Given the description of an element on the screen output the (x, y) to click on. 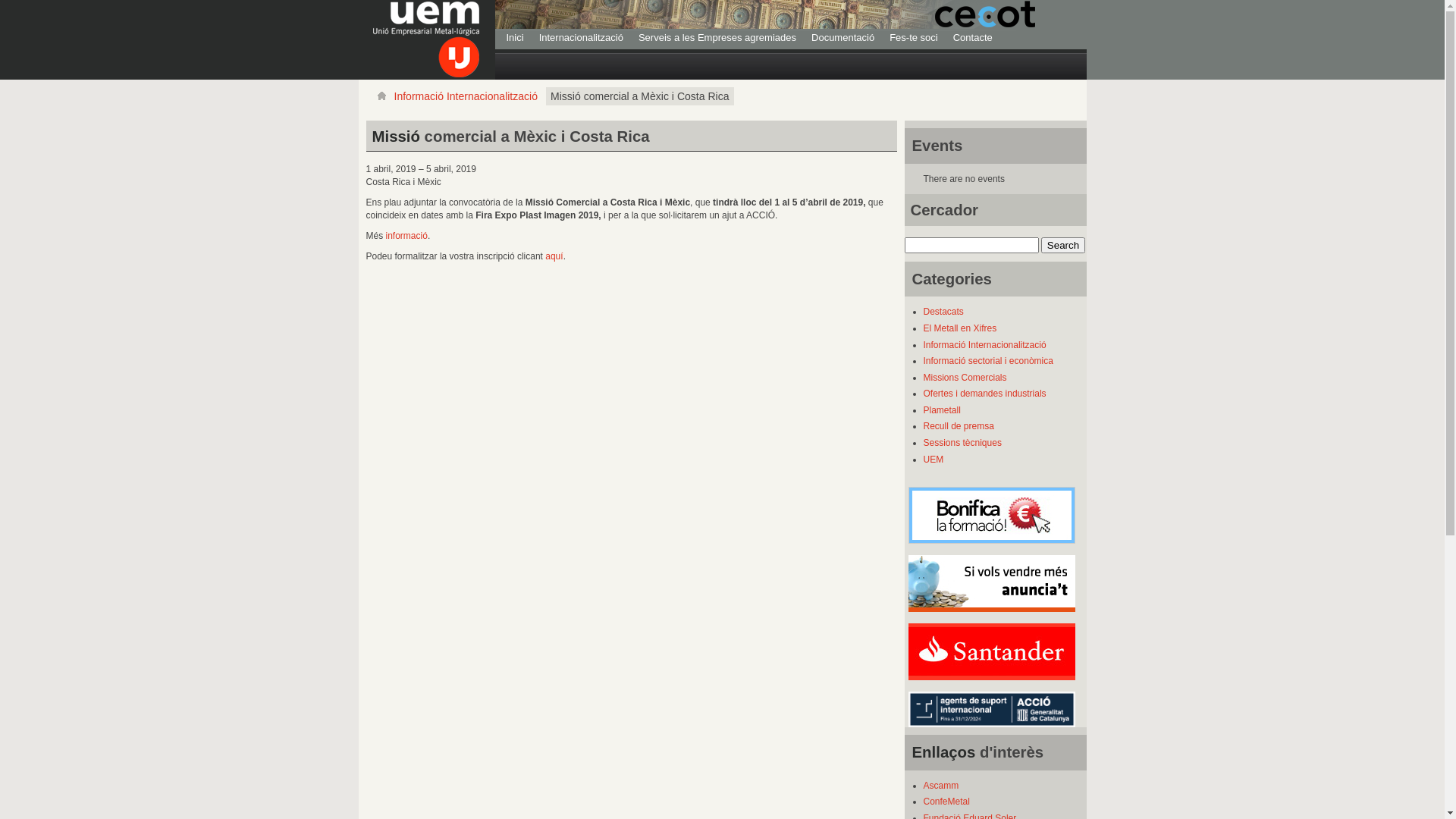
Plametall Element type: text (941, 409)
UEM Element type: text (933, 459)
Search Element type: text (1063, 245)
El Metall en Xifres Element type: text (960, 328)
Recull de premsa Element type: text (958, 425)
Destacats Element type: text (943, 311)
Ofertes i demandes industrials Element type: text (984, 393)
ConfeMetal Element type: text (946, 801)
Fes-te soci Element type: text (913, 37)
Inici Element type: text (514, 37)
Serveis a les Empreses agremiades Element type: text (716, 37)
Contacte Element type: text (972, 37)
Missions Comercials Element type: text (965, 377)
Ascamm Element type: text (941, 785)
